Given the description of an element on the screen output the (x, y) to click on. 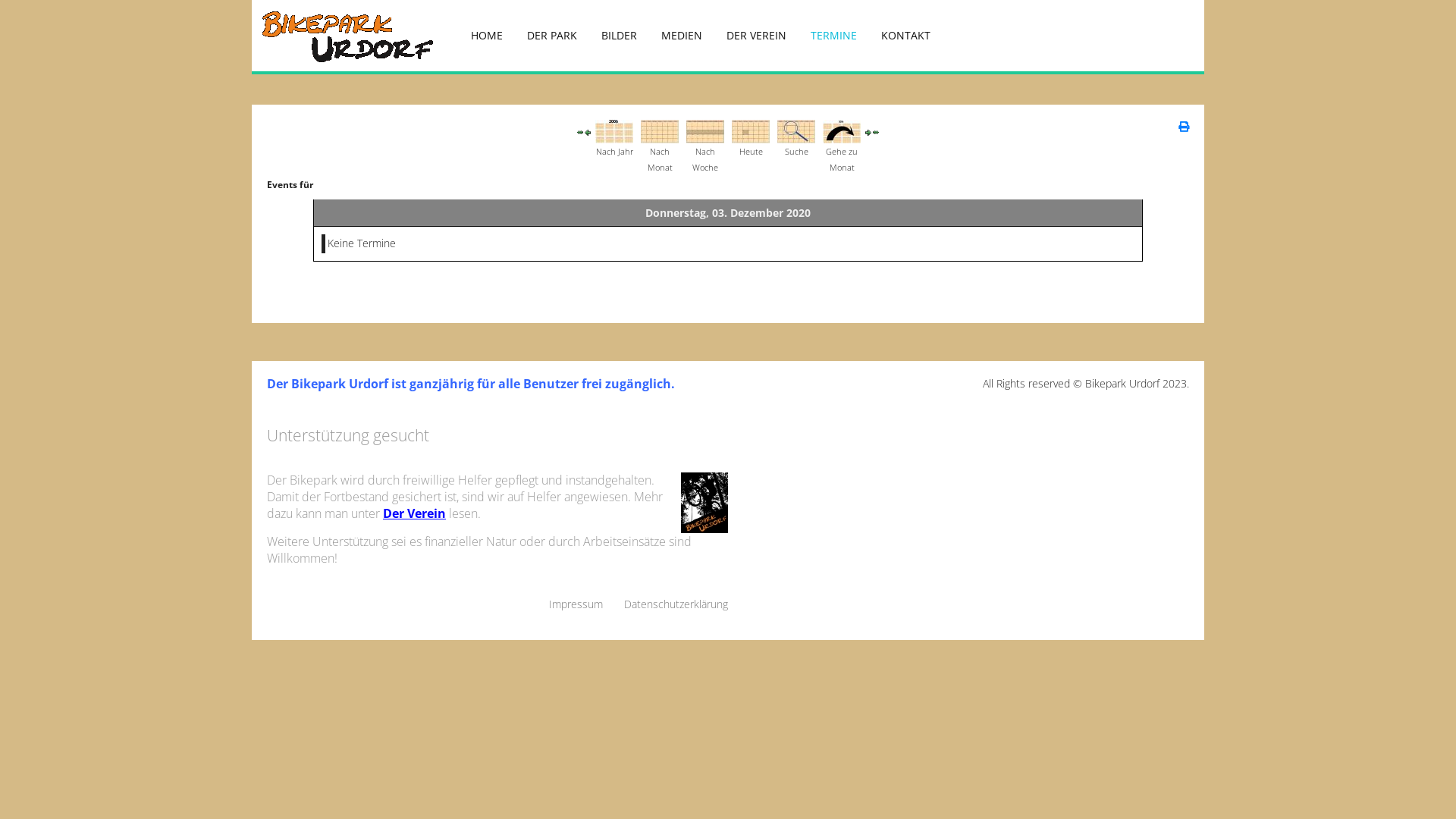
DER PARK Element type: text (551, 35)
MEDIEN Element type: text (681, 35)
Suche Element type: hover (796, 129)
Heute Element type: hover (750, 129)
Drucken Element type: hover (1183, 126)
Nach Jahr Element type: hover (614, 129)
Nach Woche Element type: hover (705, 129)
BILDER Element type: text (619, 35)
Nach Monat Element type: hover (659, 129)
TERMINE Element type: text (833, 35)
Der Verein Element type: text (413, 513)
KONTAKT Element type: text (905, 35)
DER VEREIN Element type: text (756, 35)
Vorheriger Tag Element type: hover (587, 130)
Impressum Element type: text (575, 603)
HOME Element type: text (486, 35)
Gehe zu Monat Element type: hover (841, 129)
Vorheriger Monat Element type: hover (580, 130)
